Given the description of an element on the screen output the (x, y) to click on. 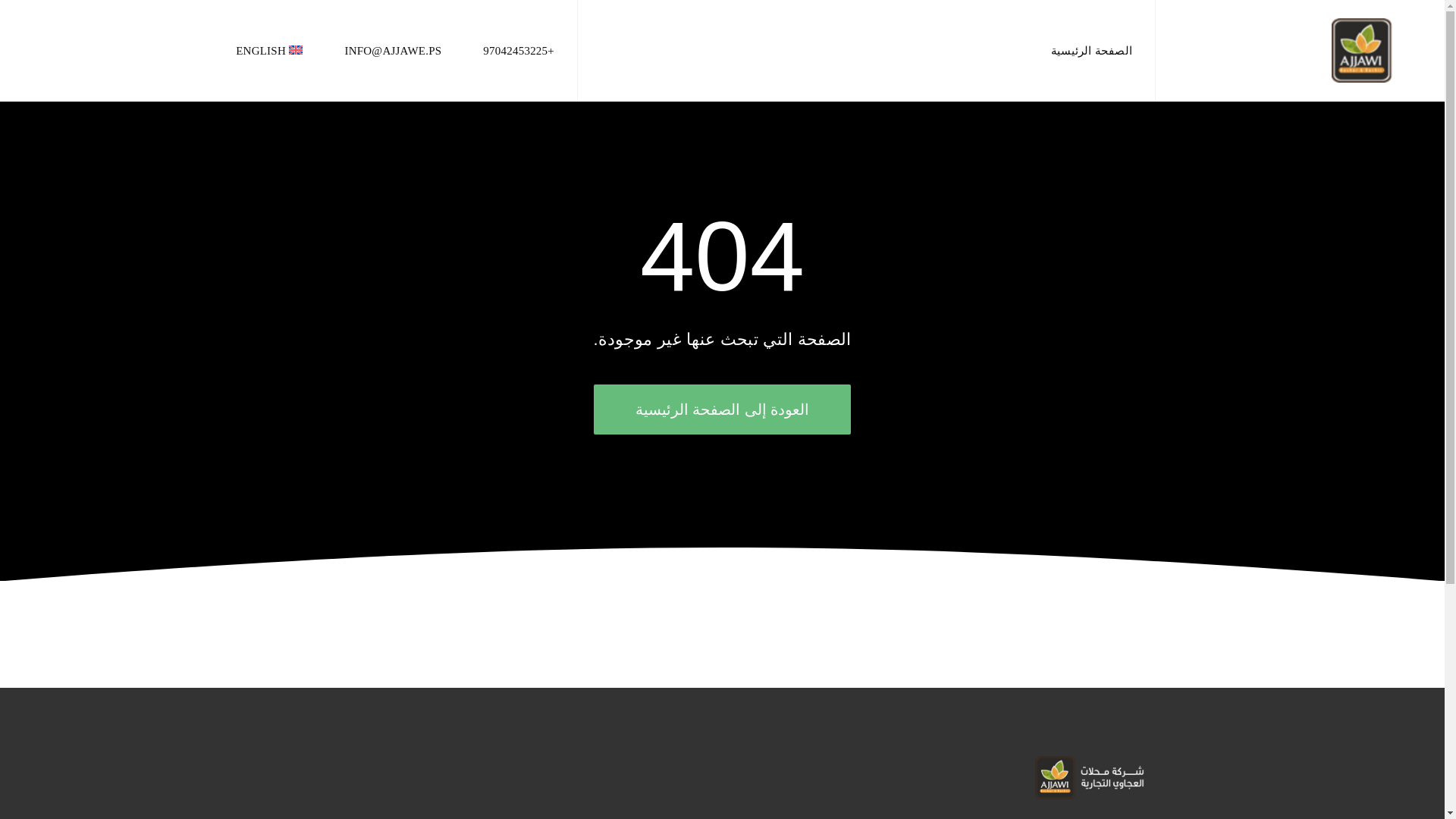
ENGLISH (268, 50)
English (268, 50)
logo (1089, 777)
